Given the description of an element on the screen output the (x, y) to click on. 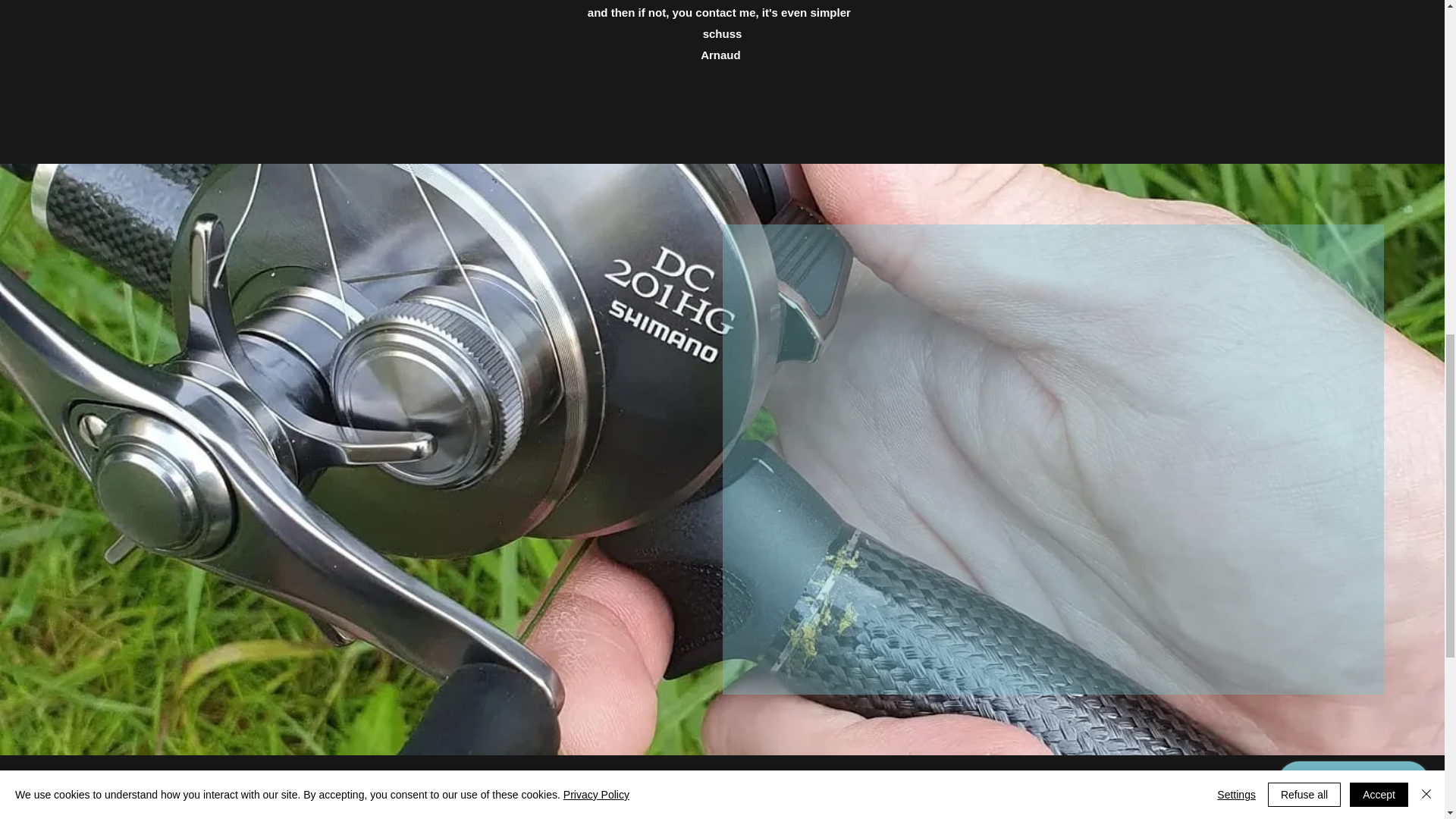
KUSTOM LAB FISHING (723, 801)
